Given the description of an element on the screen output the (x, y) to click on. 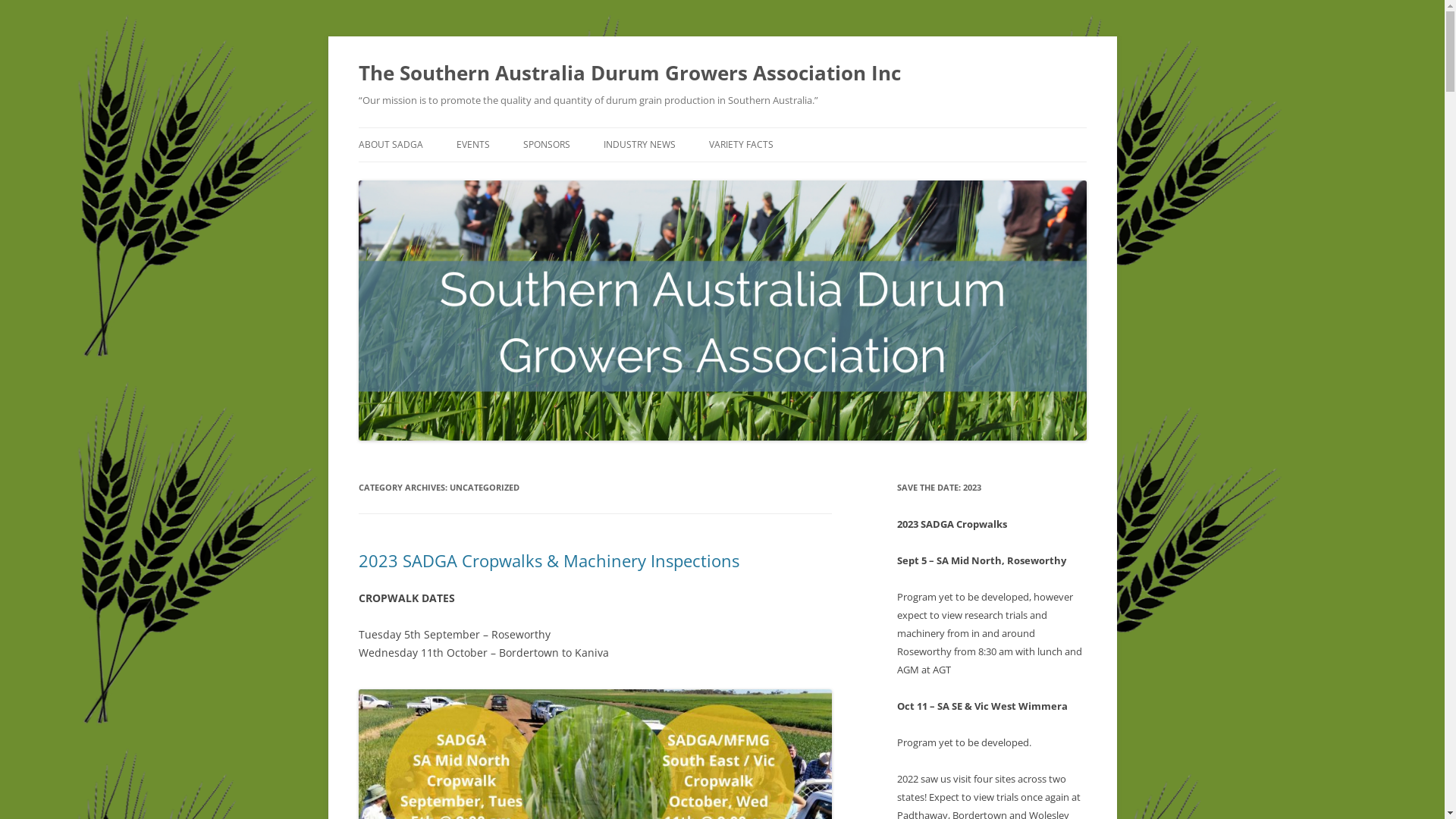
Skip to content Element type: text (721, 127)
The Southern Australia Durum Growers Association Inc Element type: text (628, 72)
ABOUT SADGA Element type: text (389, 144)
GROWING A SUCCESSFUL DURUM CROP Element type: text (679, 185)
EVENTS Element type: text (472, 144)
COMMITTEE MEMBERS Element type: text (433, 176)
SPONSORS Element type: text (546, 144)
EVENTS DIARY Element type: text (532, 176)
2023 SADGA Cropwalks & Machinery Inspections Element type: text (547, 560)
INDUSTRY NEWS Element type: text (639, 144)
VARIETY FACTS Element type: text (740, 144)
